Given the description of an element on the screen output the (x, y) to click on. 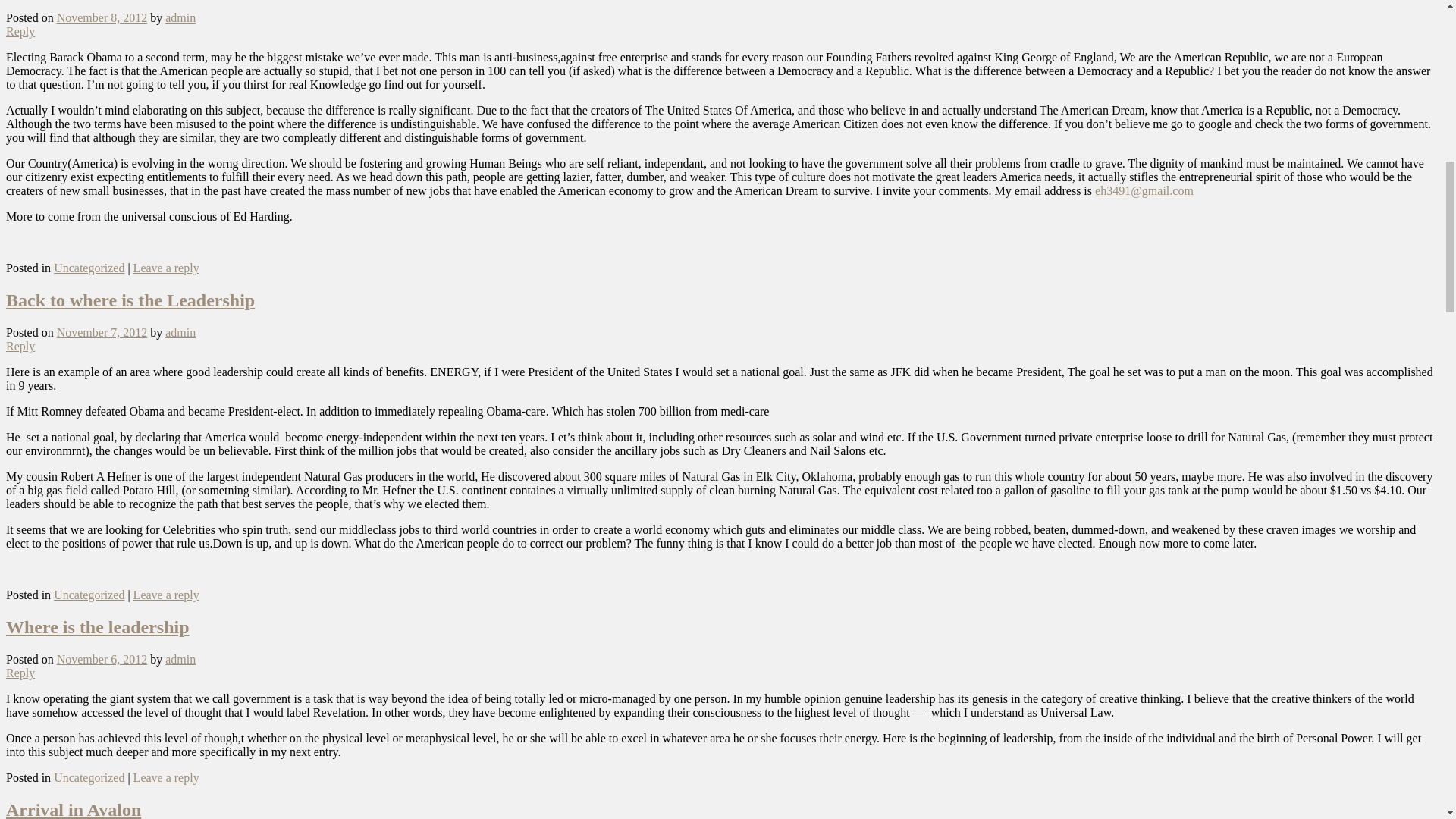
Reply (19, 31)
November 7, 2012 (102, 332)
View all posts by admin (180, 332)
admin (180, 658)
Uncategorized (88, 267)
Uncategorized (88, 777)
admin (180, 17)
Leave a reply (166, 777)
November 8, 2012 (102, 17)
Comment on Back to where is the Leadership (19, 345)
12:05 am (102, 17)
Uncategorized (88, 594)
View all posts by admin (180, 17)
admin (180, 332)
Back to where is the Leadership (129, 300)
